Given the description of an element on the screen output the (x, y) to click on. 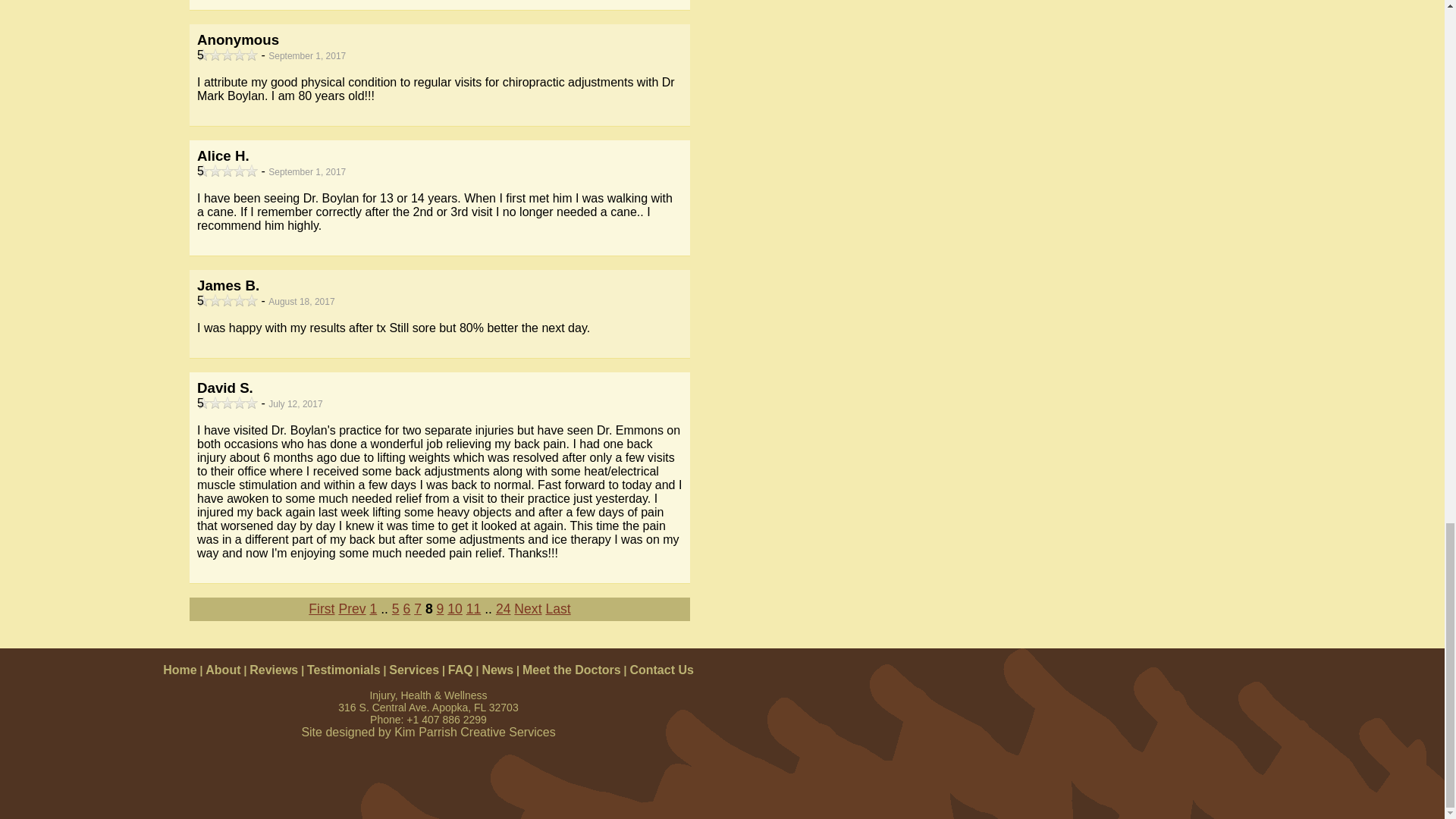
24 (503, 608)
Testimonials (343, 669)
6 (406, 608)
Last (557, 608)
1 (373, 608)
Contact Us (660, 669)
Page 11 (473, 608)
About (222, 669)
FAQ (460, 669)
11 (473, 608)
Page 10 (454, 608)
News (497, 669)
Page 7 (417, 608)
Next (527, 608)
Site designed by Kim Parrish Creative Services (427, 731)
